Given the description of an element on the screen output the (x, y) to click on. 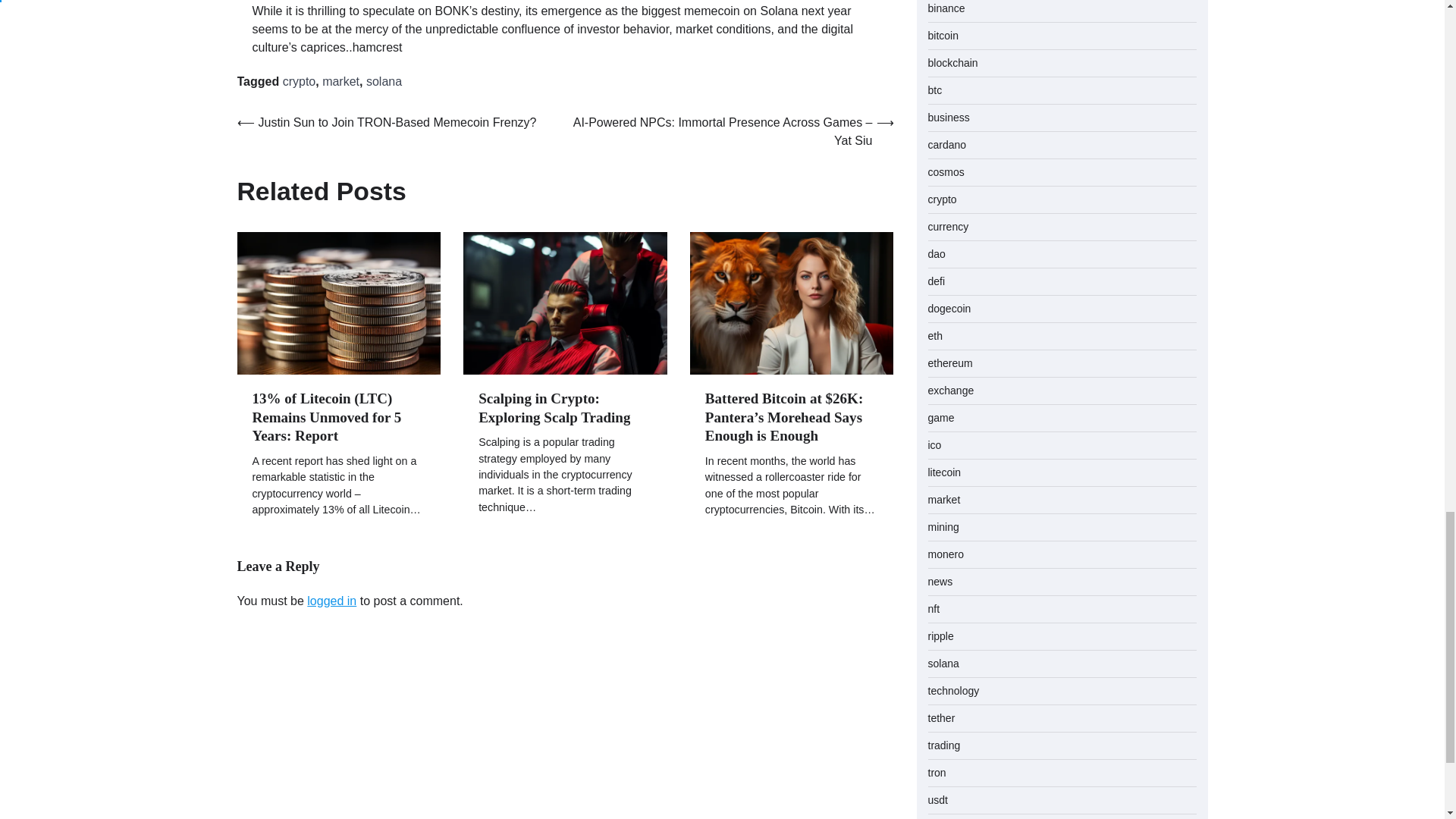
Scalping in Crypto: Exploring Scalp Trading (554, 407)
crypto (298, 81)
market (340, 81)
logged in (331, 600)
solana (383, 81)
